Given the description of an element on the screen output the (x, y) to click on. 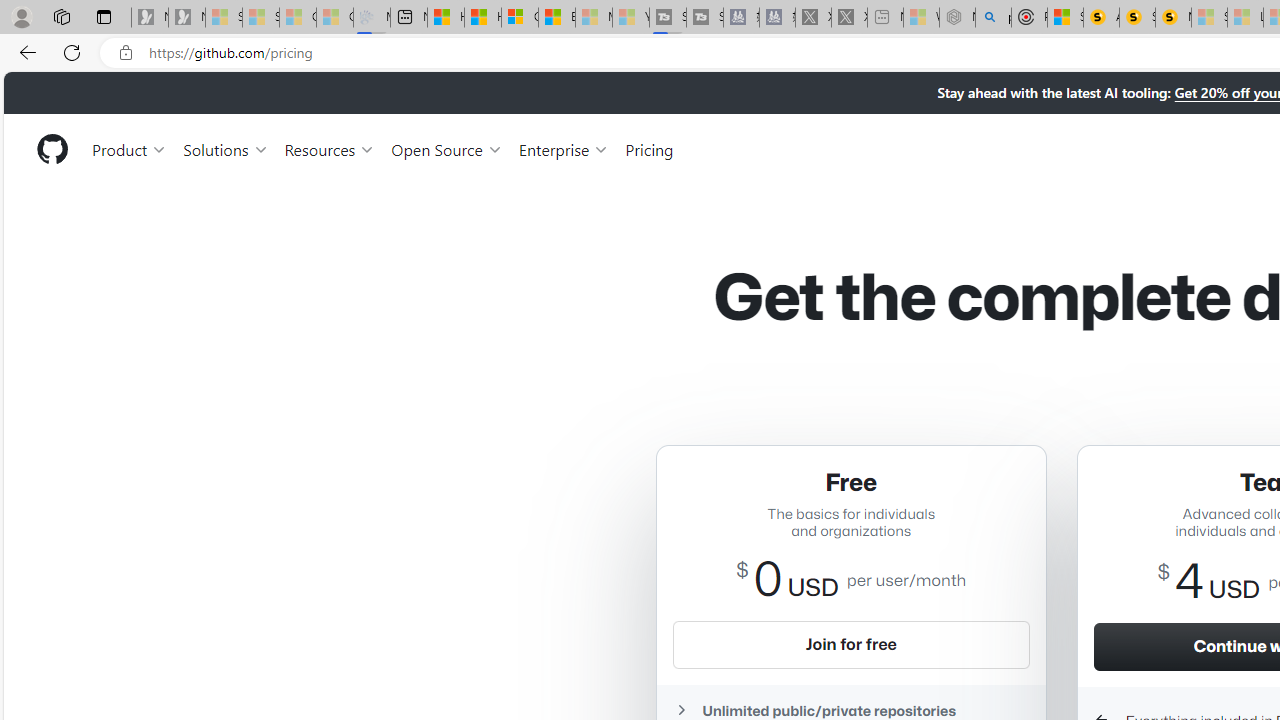
Nordace - Summer Adventures 2024 - Sleeping (957, 17)
Pricing (649, 148)
Homepage (51, 149)
Pricing (649, 148)
Open Source (446, 148)
Microsoft Start - Sleeping (593, 17)
Product (130, 148)
poe - Search (993, 17)
